Given the description of an element on the screen output the (x, y) to click on. 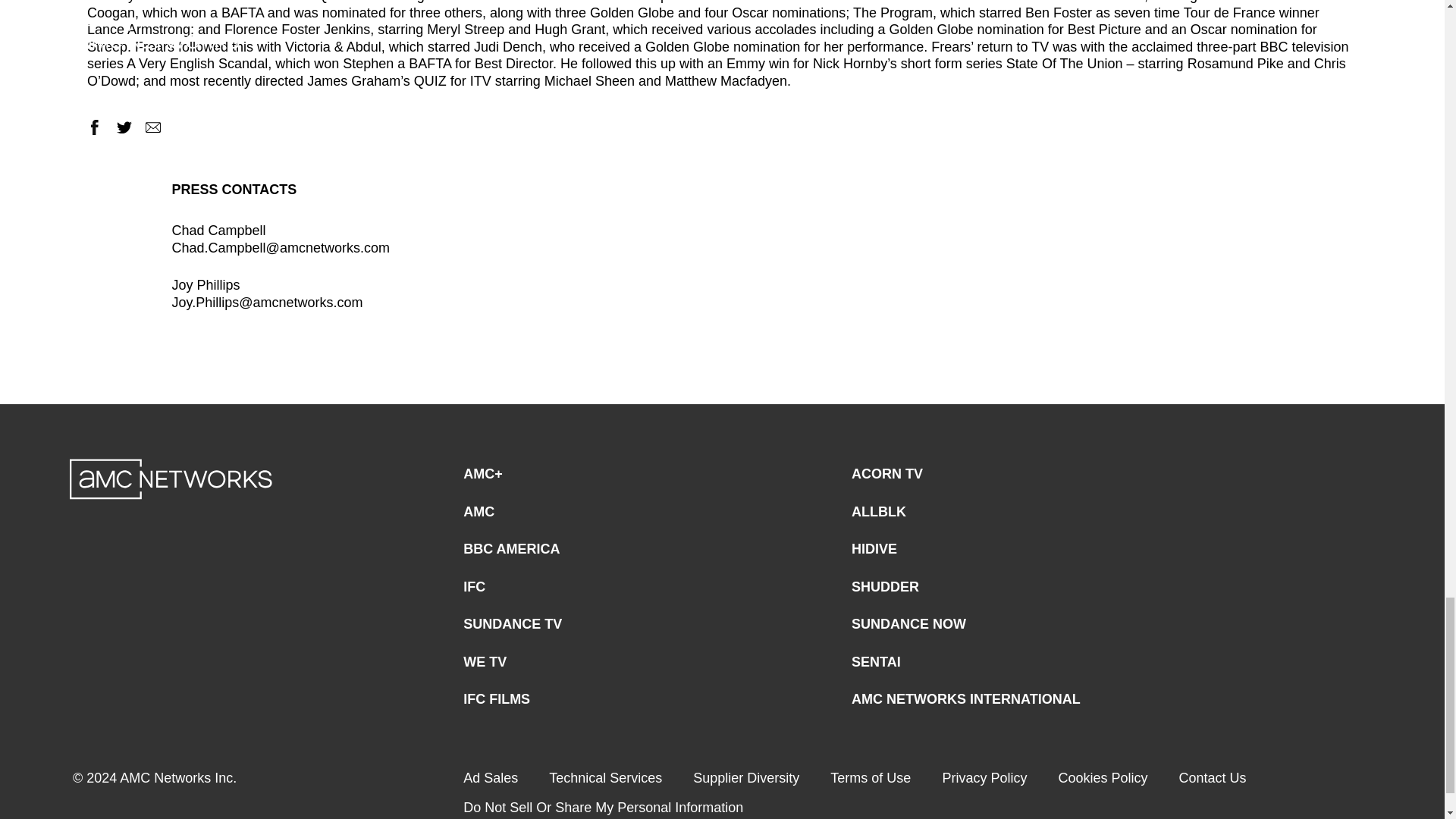
AMC Networks (170, 478)
